Given the description of an element on the screen output the (x, y) to click on. 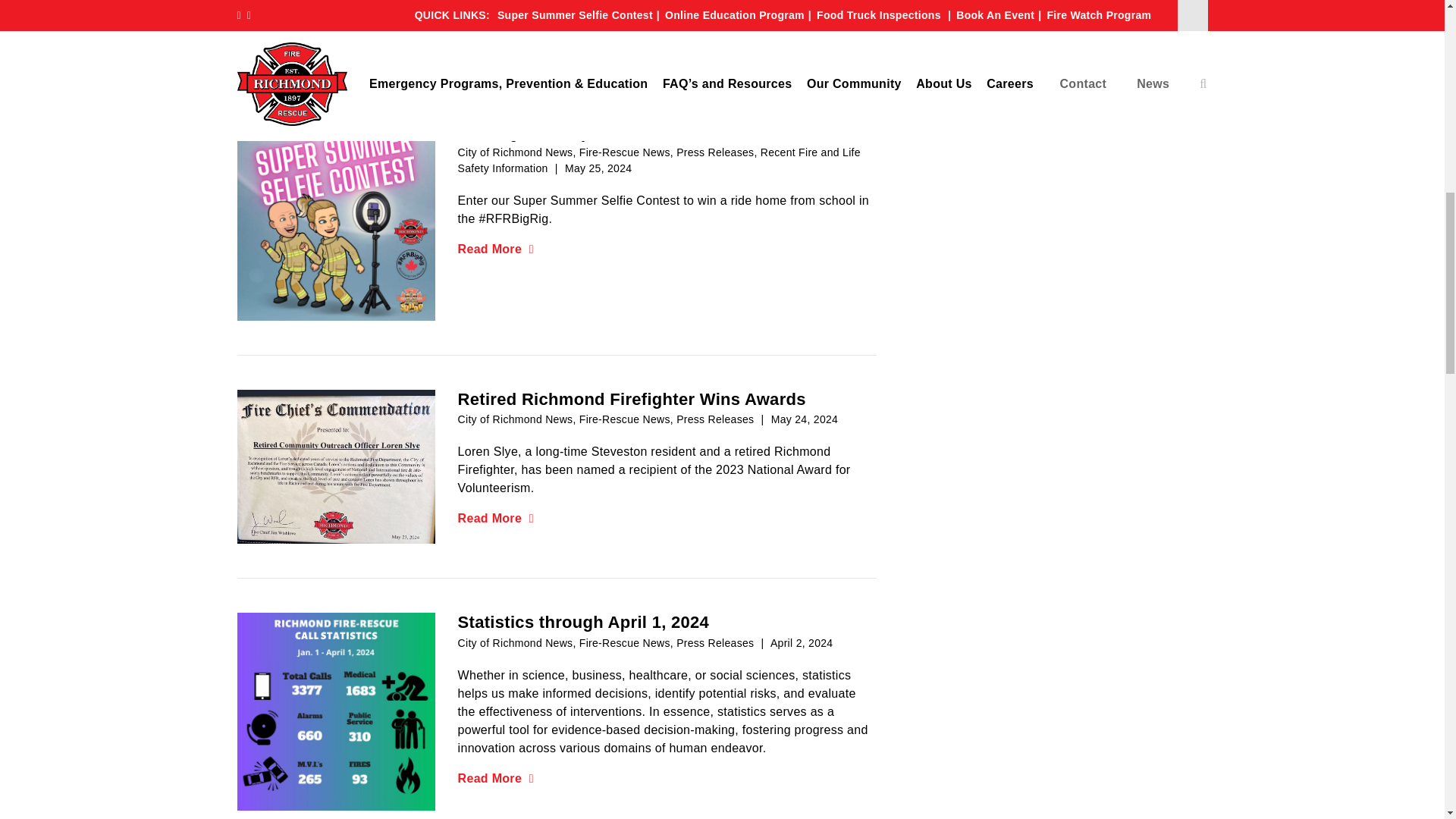
The SQUAD Super Summer Selfie Contest (334, 219)
The SQUAD Super Summer Selfie Contest (334, 221)
Retired Richmond Firefighter Wins Awards (334, 466)
Retired Richmond Firefighter Wins Awards (334, 465)
Statistics through April 1, 2024 (334, 710)
Statistics through April 1, 2024 (334, 711)
